Given the description of an element on the screen output the (x, y) to click on. 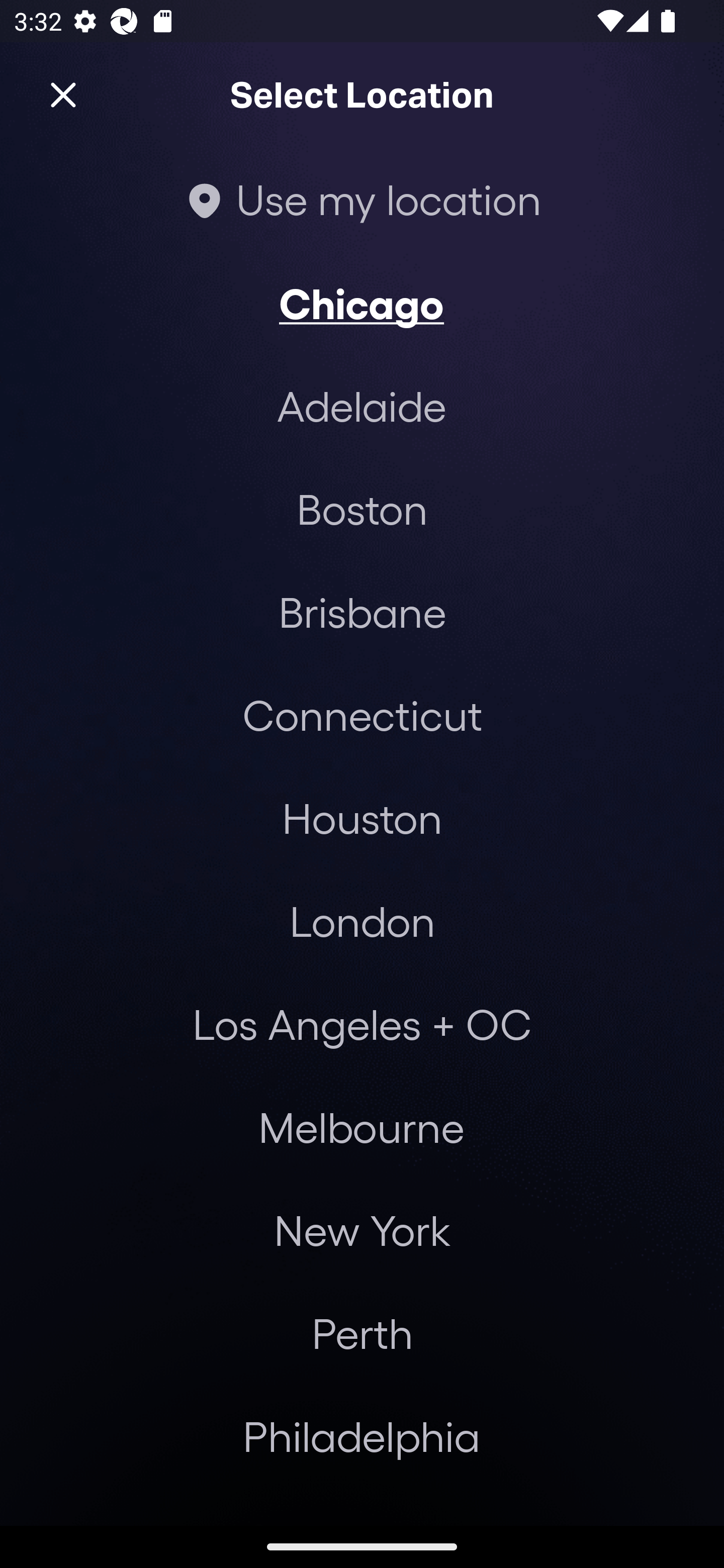
Close (62, 95)
   Use my location (362, 198)
Chicago (361, 302)
Adelaide (361, 405)
Boston (361, 508)
Brisbane (361, 611)
Connecticut (361, 714)
Houston (361, 817)
London (361, 920)
Los Angeles + OC (361, 1023)
Melbourne (361, 1127)
New York (361, 1230)
Perth (361, 1332)
Philadelphia (361, 1436)
